Given the description of an element on the screen output the (x, y) to click on. 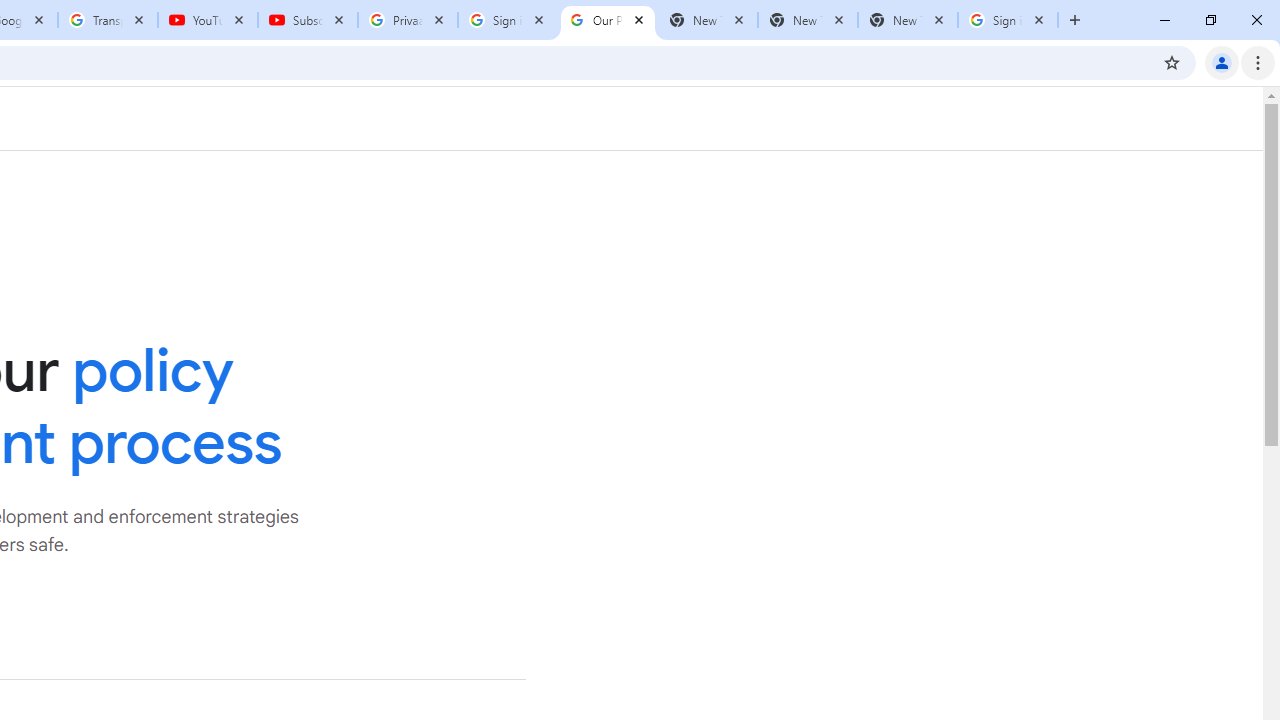
Subscriptions - YouTube (308, 20)
Sign in - Google Accounts (508, 20)
New Tab (907, 20)
YouTube (207, 20)
Sign in - Google Accounts (1007, 20)
